Given the description of an element on the screen output the (x, y) to click on. 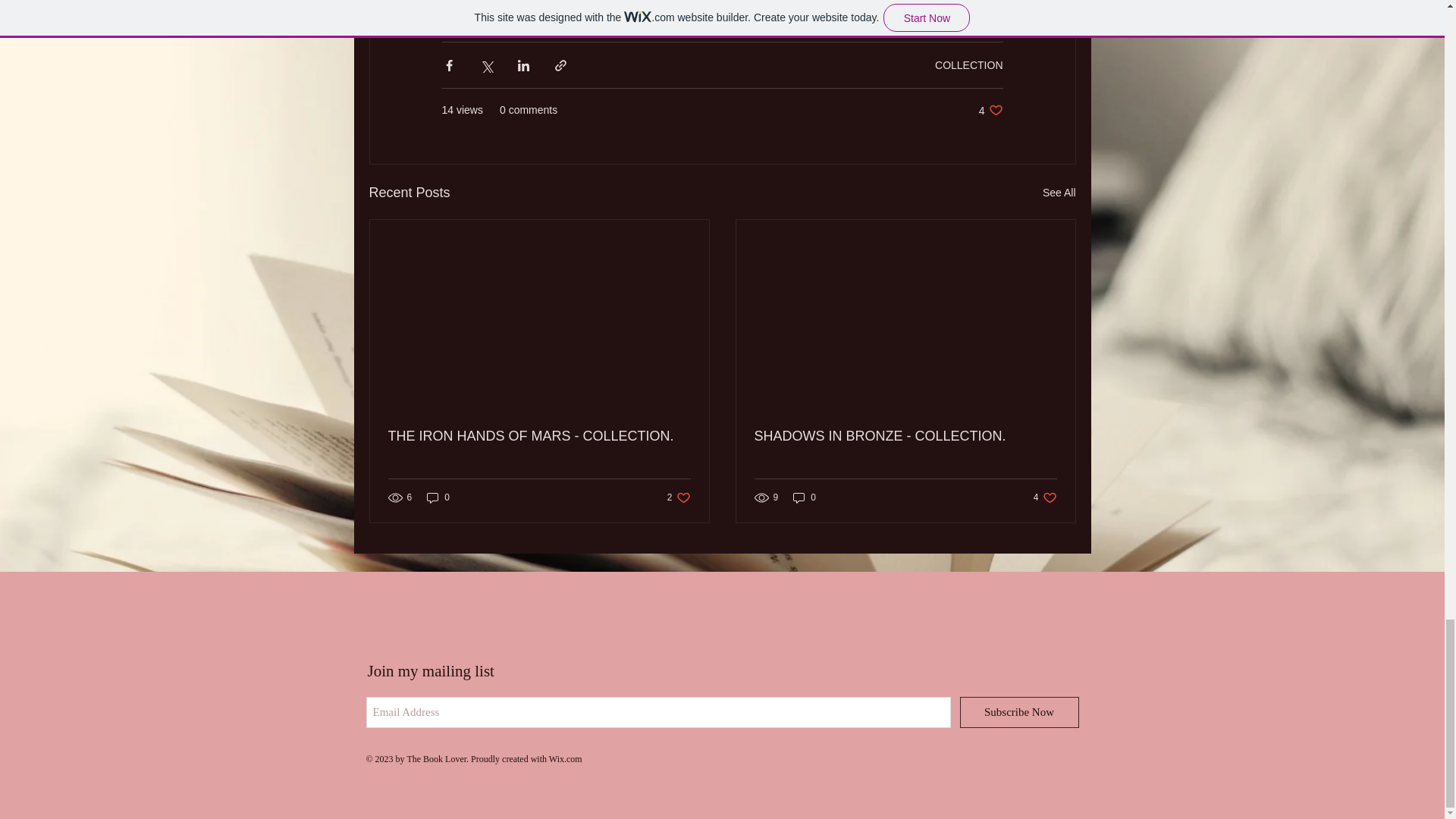
COLLECTION (968, 64)
See All (1058, 192)
Subscribe Now (1018, 712)
0 (438, 497)
THE IRON HANDS OF MARS - COLLECTION. (539, 436)
Wix.com (565, 758)
SHADOWS IN BRONZE - COLLECTION. (990, 110)
0 (1045, 497)
